Given the description of an element on the screen output the (x, y) to click on. 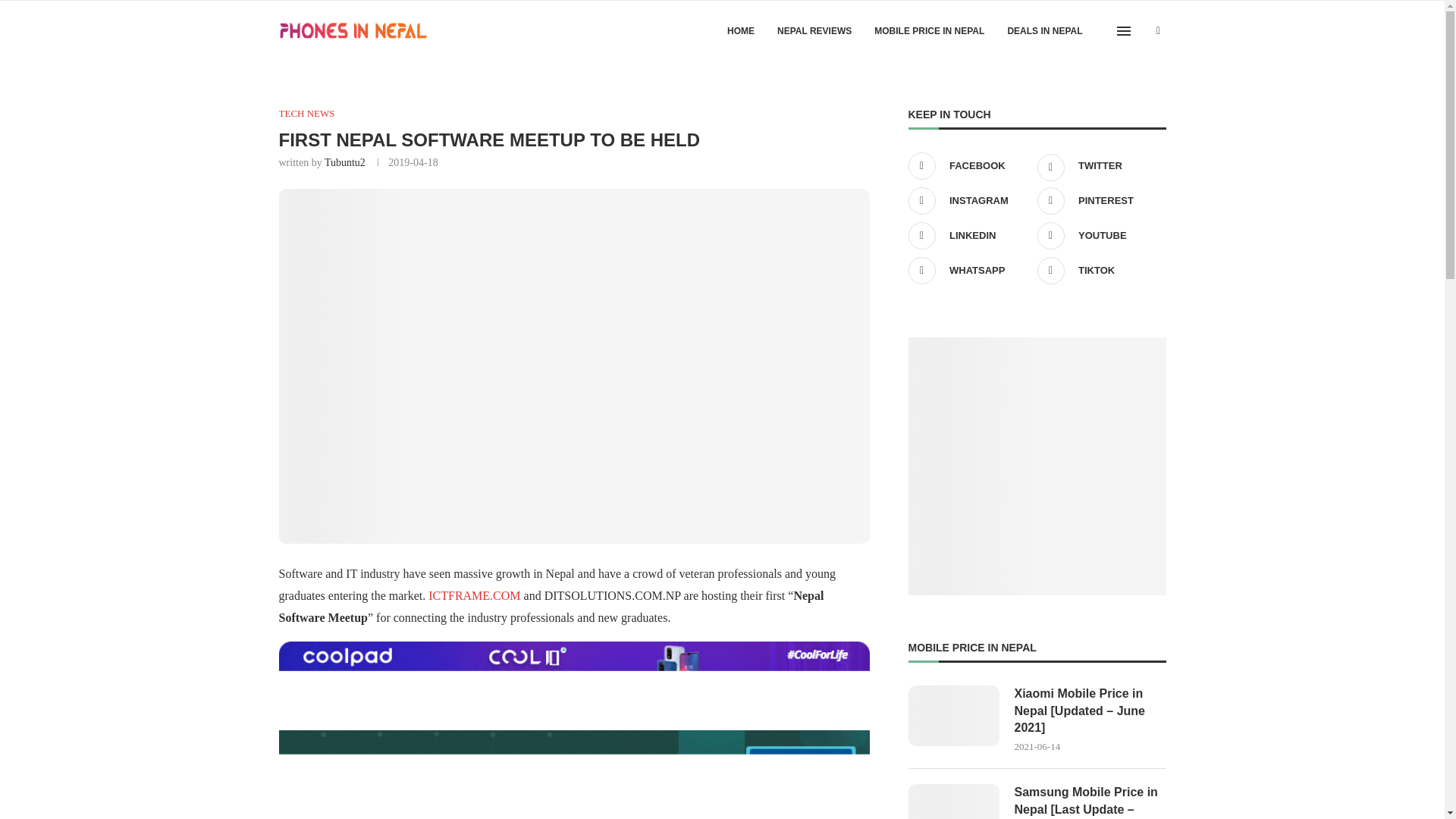
DEALS IN NEPAL (1044, 30)
TECH NEWS (306, 113)
ICTFRAME.COM (473, 594)
Tubuntu2 (344, 162)
NEPAL REVIEWS (814, 30)
MOBILE PRICE IN NEPAL (929, 30)
